Given the description of an element on the screen output the (x, y) to click on. 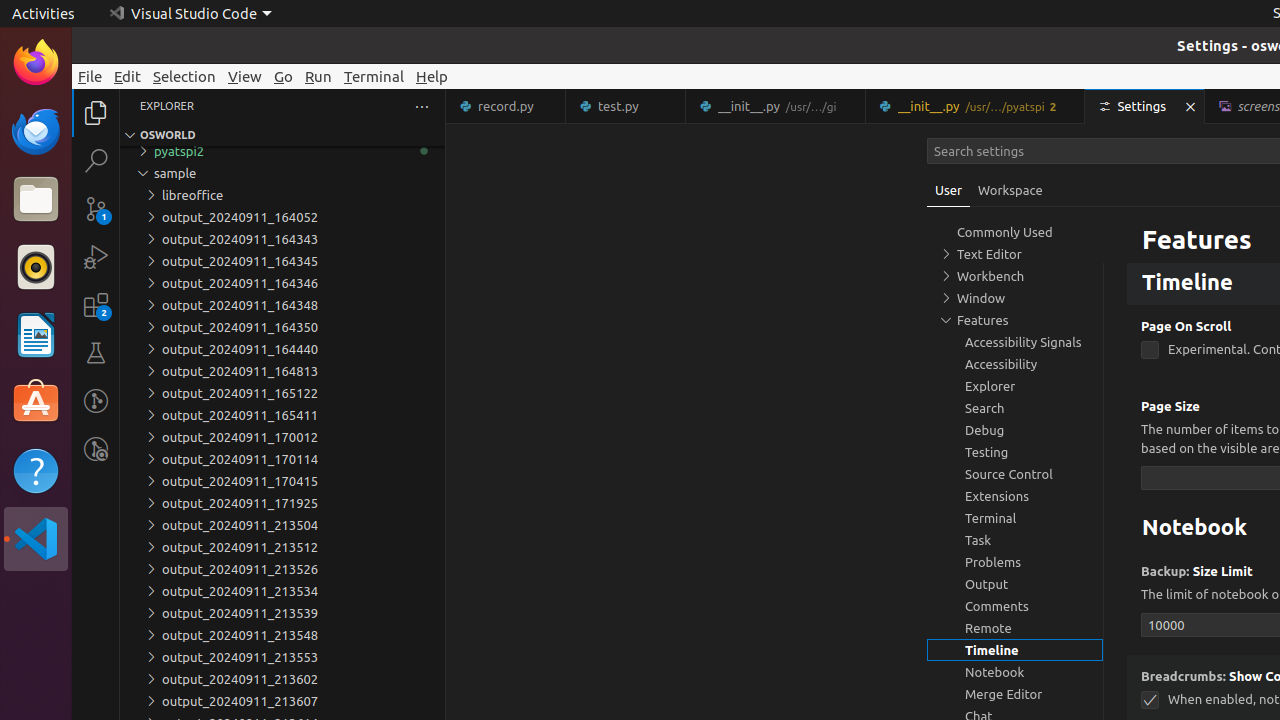
output_20240911_213539 Element type: tree-item (282, 613)
Source Control (Ctrl+Shift+G G) - 1 pending changes Source Control (Ctrl+Shift+G G) - 1 pending changes Element type: page-tab (96, 208)
Terminal, group Element type: tree-item (1015, 518)
Workspace Element type: check-box (1010, 190)
